Given the description of an element on the screen output the (x, y) to click on. 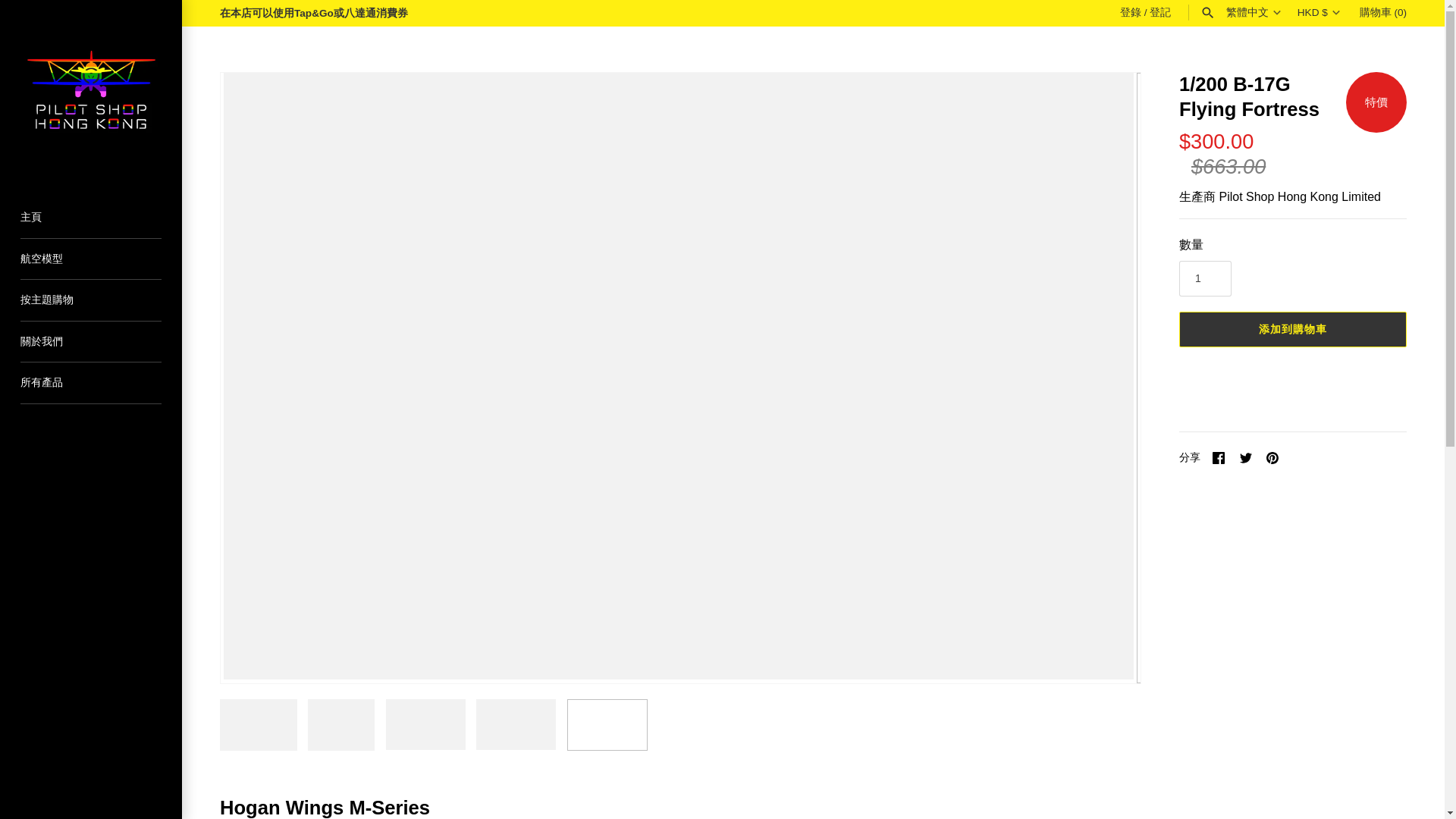
Facebook (1218, 458)
Pilot Shop Hong Kong Limited (91, 90)
1 (1205, 278)
Pinterest (1272, 458)
Twitter (1246, 458)
